Given the description of an element on the screen output the (x, y) to click on. 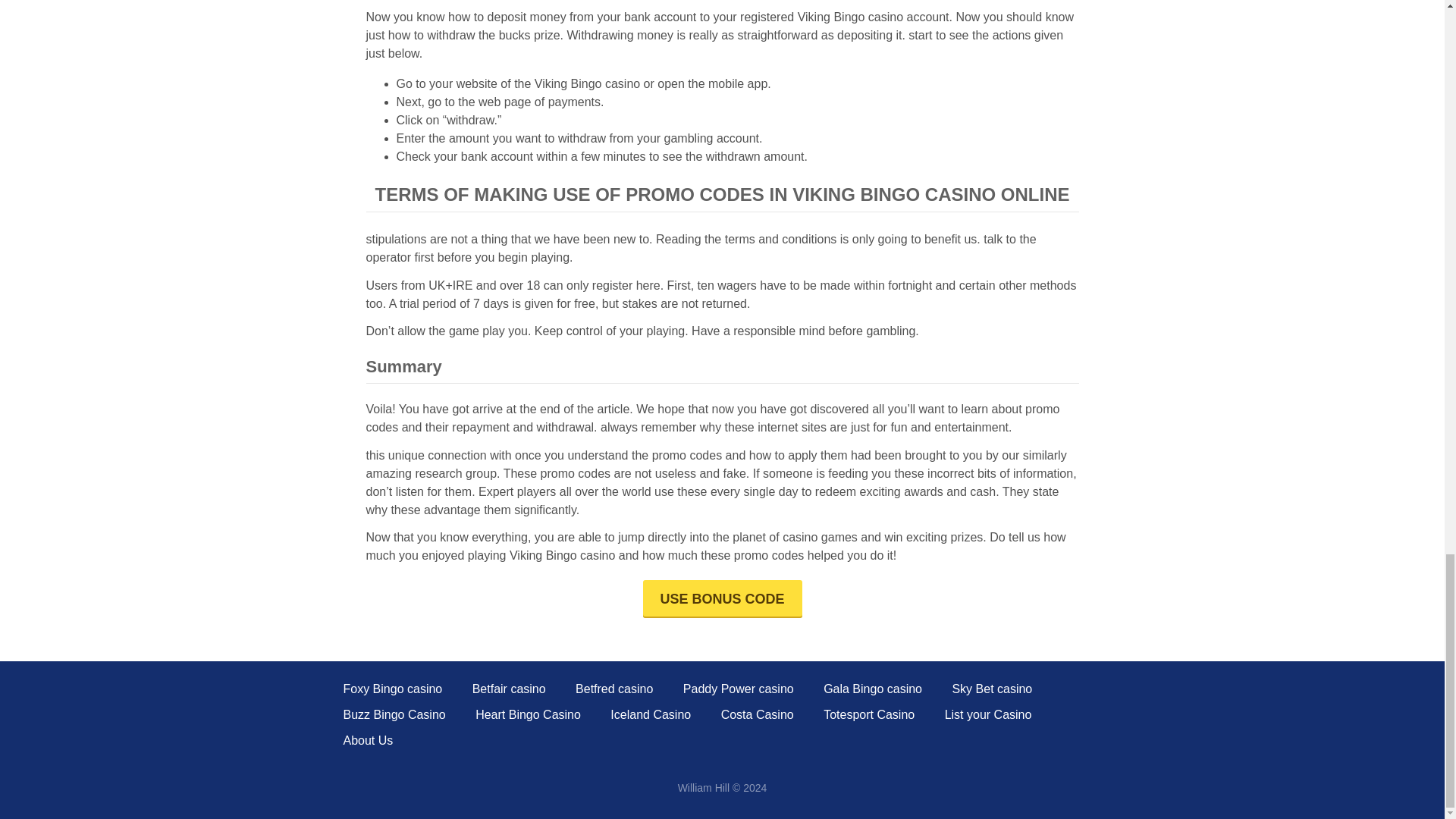
Heart Bingo Casino (528, 714)
Foxy Bingo casino (392, 688)
Buzz Bingo Casino (393, 714)
Gala Bingo casino (872, 688)
Iceland Casino (650, 714)
Sky Bet casino (992, 688)
Costa Casino (756, 714)
Betfred casino (613, 688)
Betfair casino (508, 688)
Paddy Power casino (737, 688)
